Given the description of an element on the screen output the (x, y) to click on. 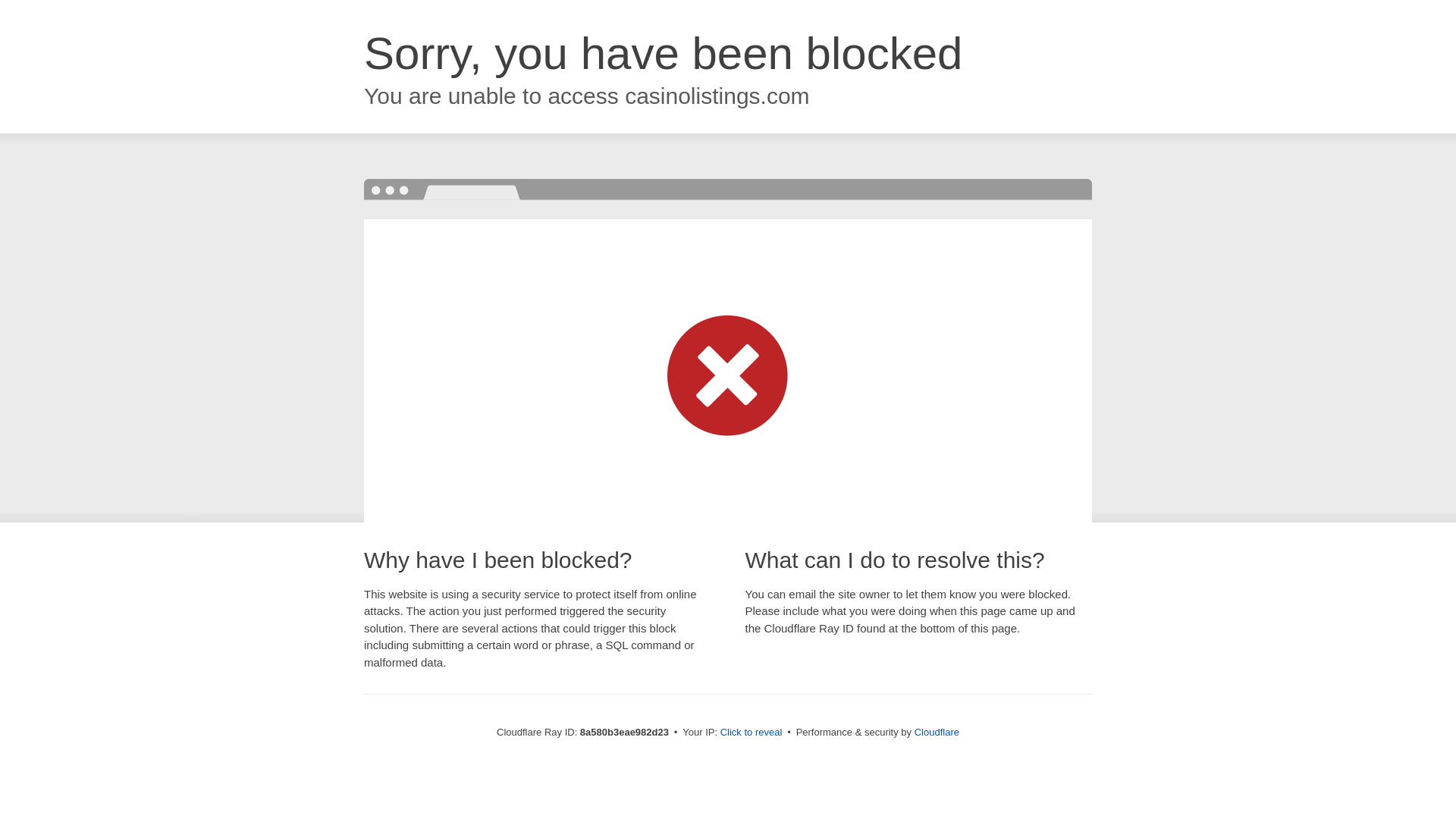
Cloudflare (936, 731)
Click to reveal (751, 732)
